Given the description of an element on the screen output the (x, y) to click on. 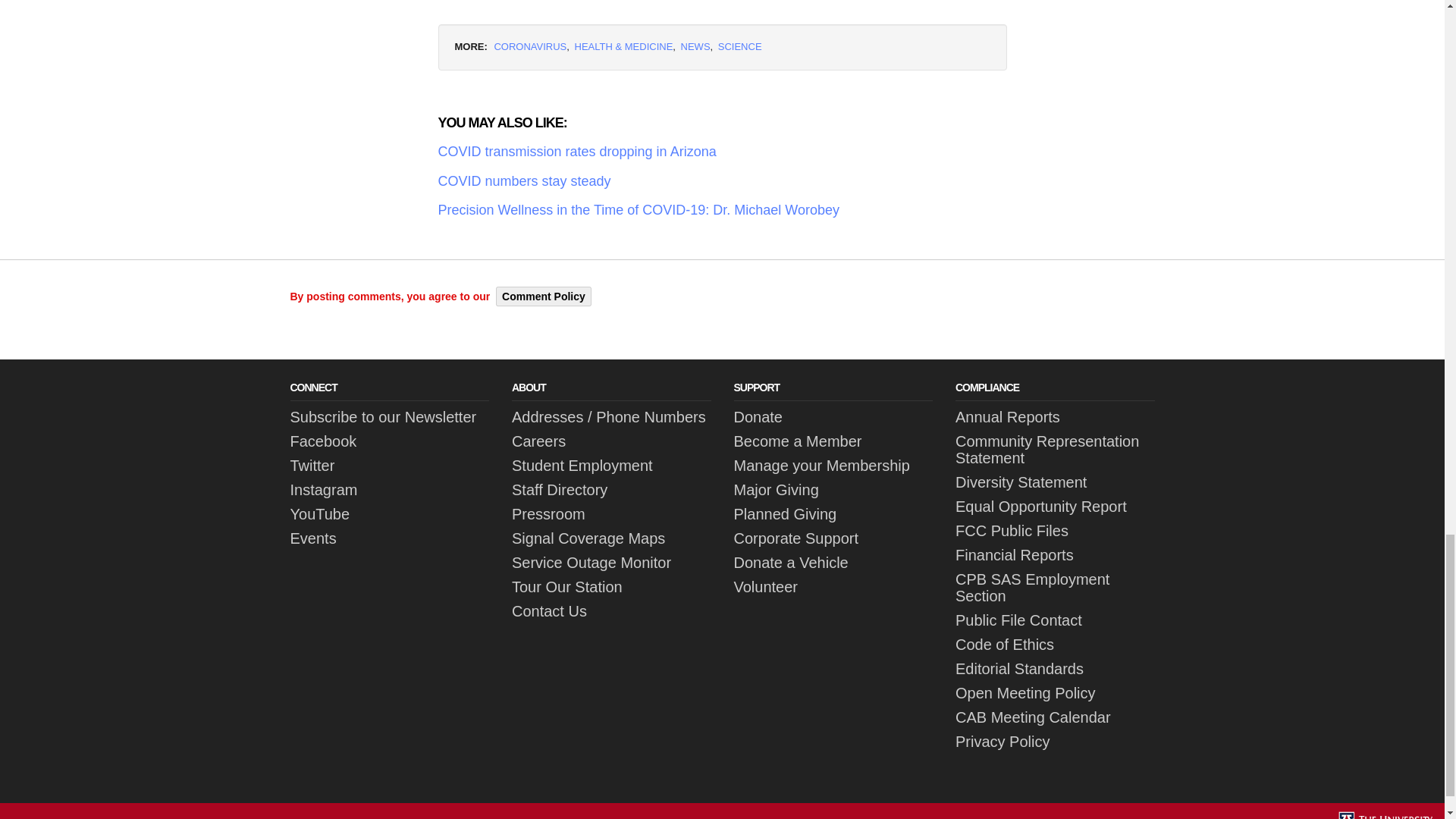
COVID numbers stay steady (722, 181)
COVID transmission rates dropping in Arizona (722, 151)
